Given the description of an element on the screen output the (x, y) to click on. 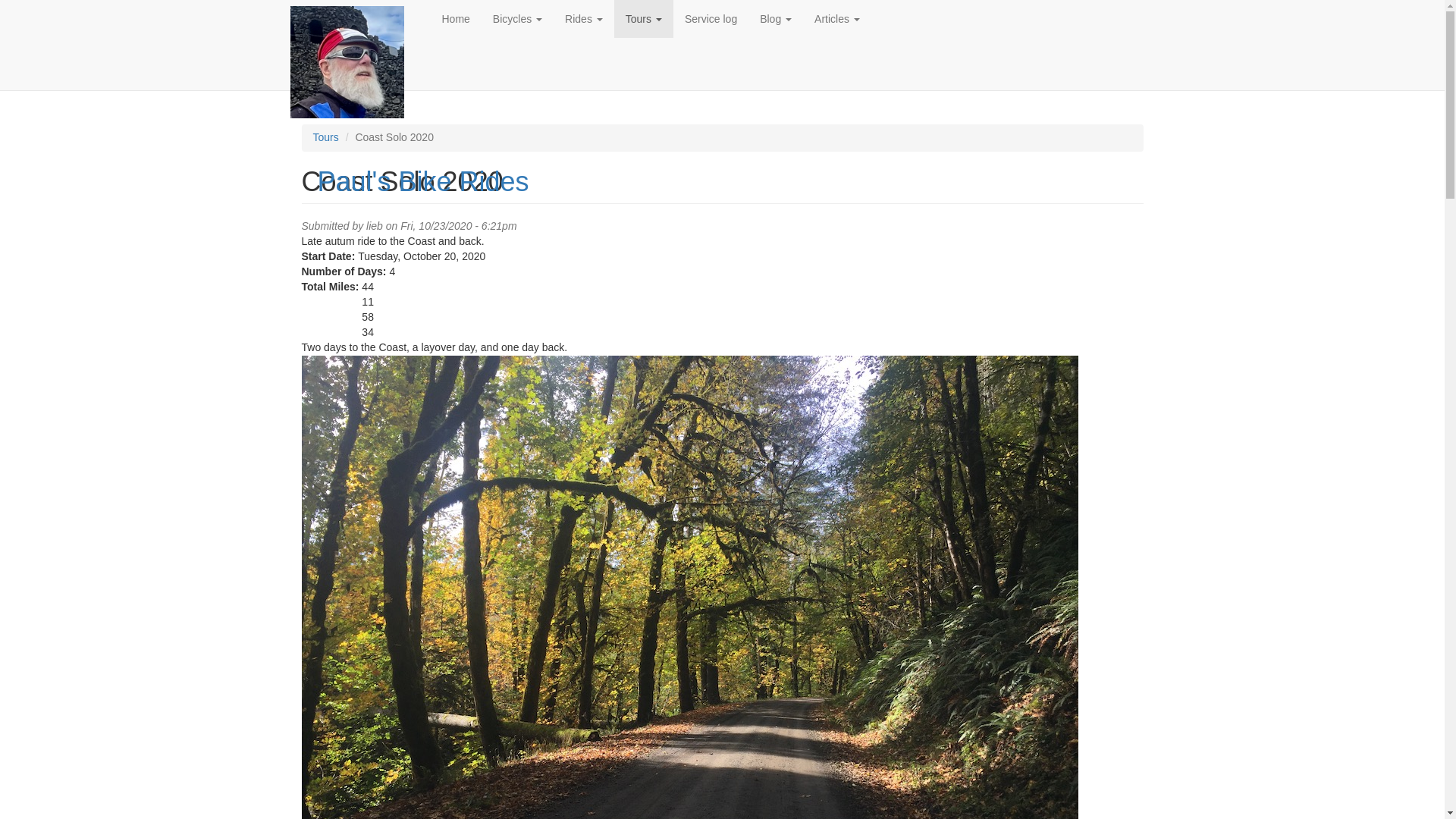
Tours (643, 18)
Home (422, 181)
Rides (583, 18)
Some stuff I wrote. (836, 18)
Home (455, 18)
Home (359, 61)
Bicycles (517, 18)
